Given the description of an element on the screen output the (x, y) to click on. 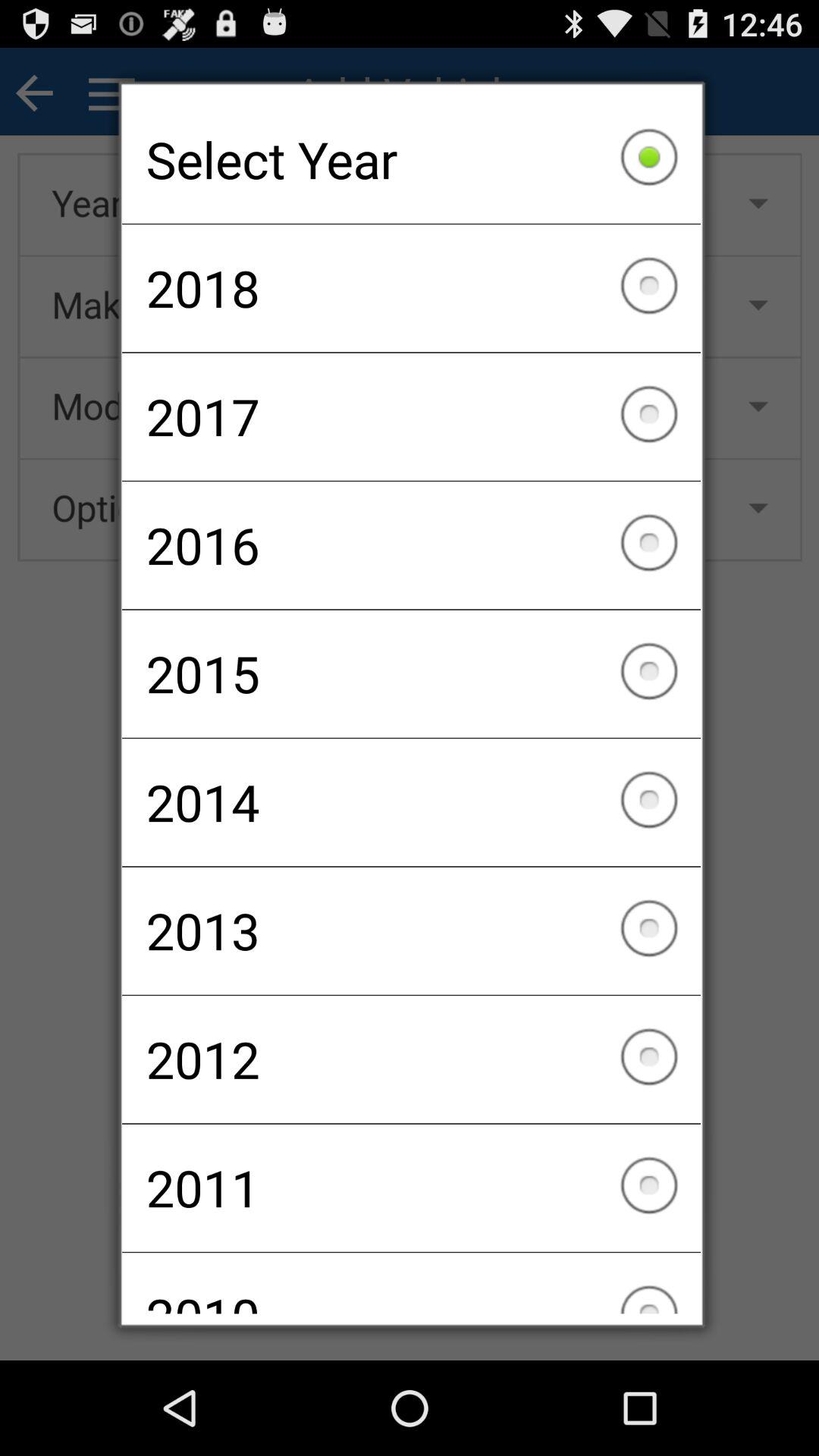
choose checkbox below 2017 item (411, 545)
